Given the description of an element on the screen output the (x, y) to click on. 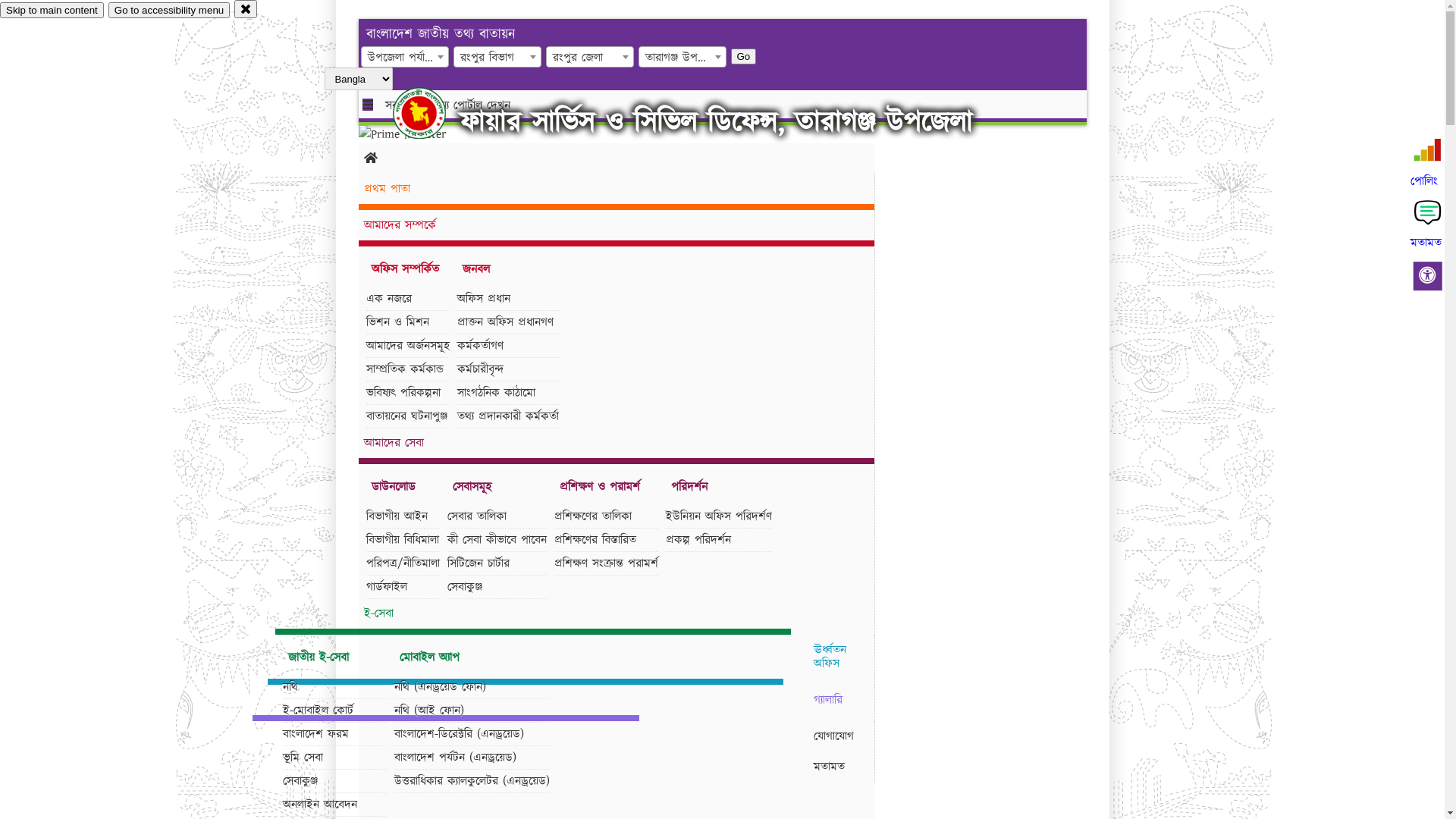
close Element type: hover (245, 9)
Go Element type: text (466, 56)

                
             Element type: hover (431, 112)
Go to accessibility menu Element type: text (168, 10)
Skip to main content Element type: text (51, 10)
